Given the description of an element on the screen output the (x, y) to click on. 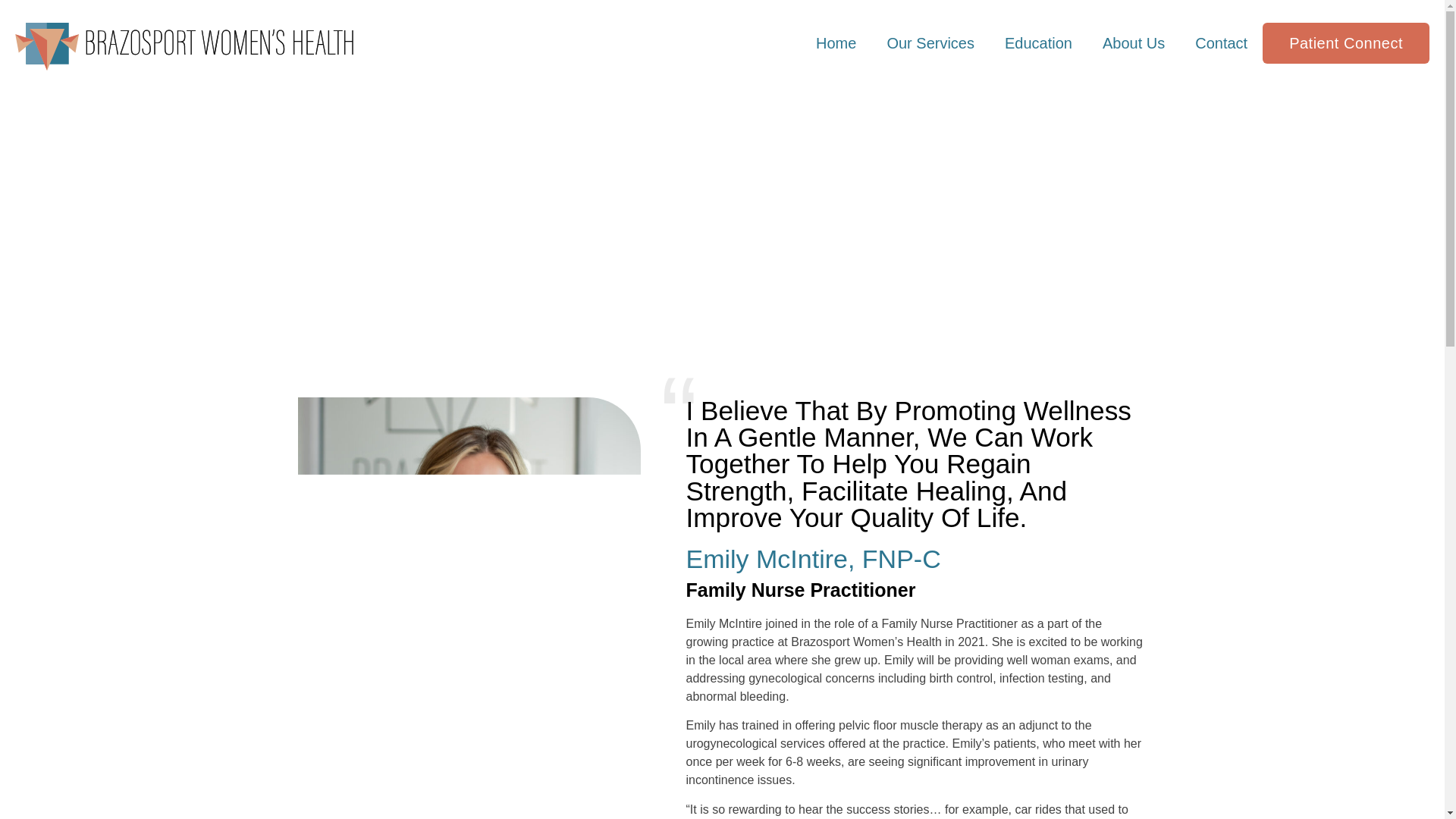
About Us (1133, 42)
Home (835, 42)
Our Services (930, 42)
Emily Mcintire 4 (300, 763)
Education (1038, 42)
Contact (1220, 42)
Patient Connect (1345, 42)
